Given the description of an element on the screen output the (x, y) to click on. 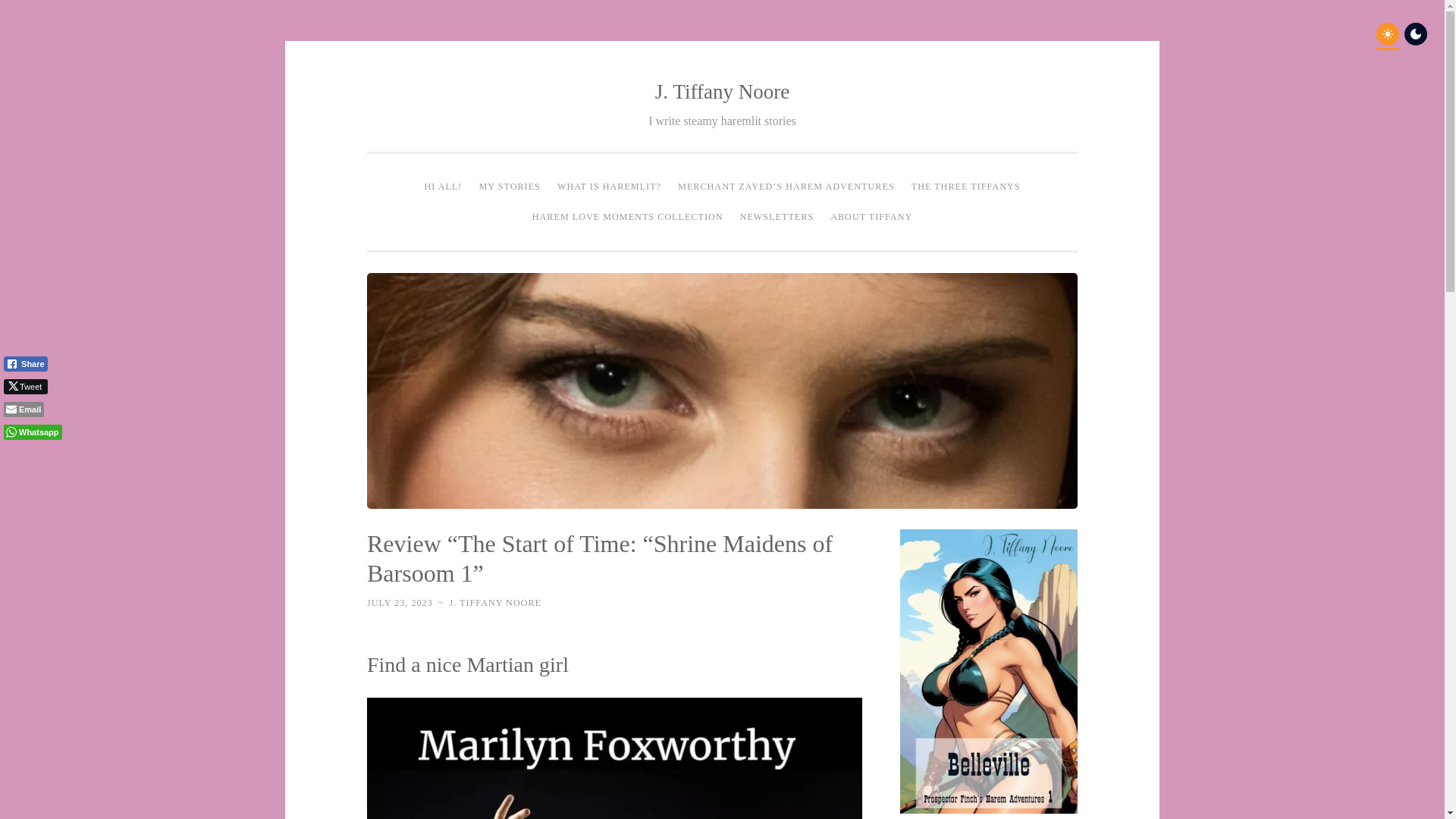
HAREM LOVE MOMENTS COLLECTION (627, 216)
ABOUT TIFFANY (871, 216)
J. Tiffany Noore (722, 91)
J. TIFFANY NOORE (494, 602)
THE THREE TIFFANYS (965, 186)
NEWSLETTERS (777, 216)
HI ALL! (442, 186)
MY STORIES (509, 186)
JULY 23, 2023 (399, 602)
WHAT IS HAREMLIT? (609, 186)
